Given the description of an element on the screen output the (x, y) to click on. 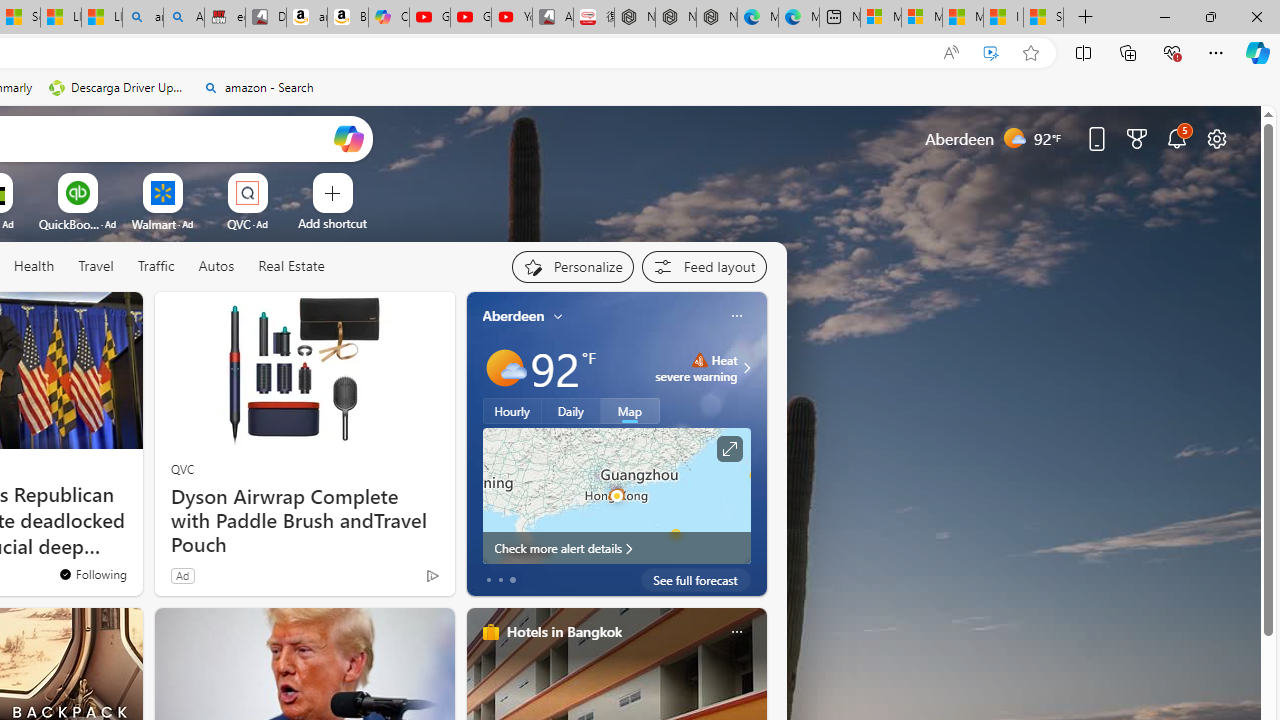
Class: weather-arrow-glyph (746, 367)
Minimize (1164, 16)
Page settings (1216, 138)
Traffic (155, 265)
Browser essentials (1171, 52)
tab-2 (511, 579)
next (756, 443)
Nordace Comino Totepack (634, 17)
Travel (95, 267)
Open Copilot (347, 138)
Hotels in Bangkok (563, 631)
